Given the description of an element on the screen output the (x, y) to click on. 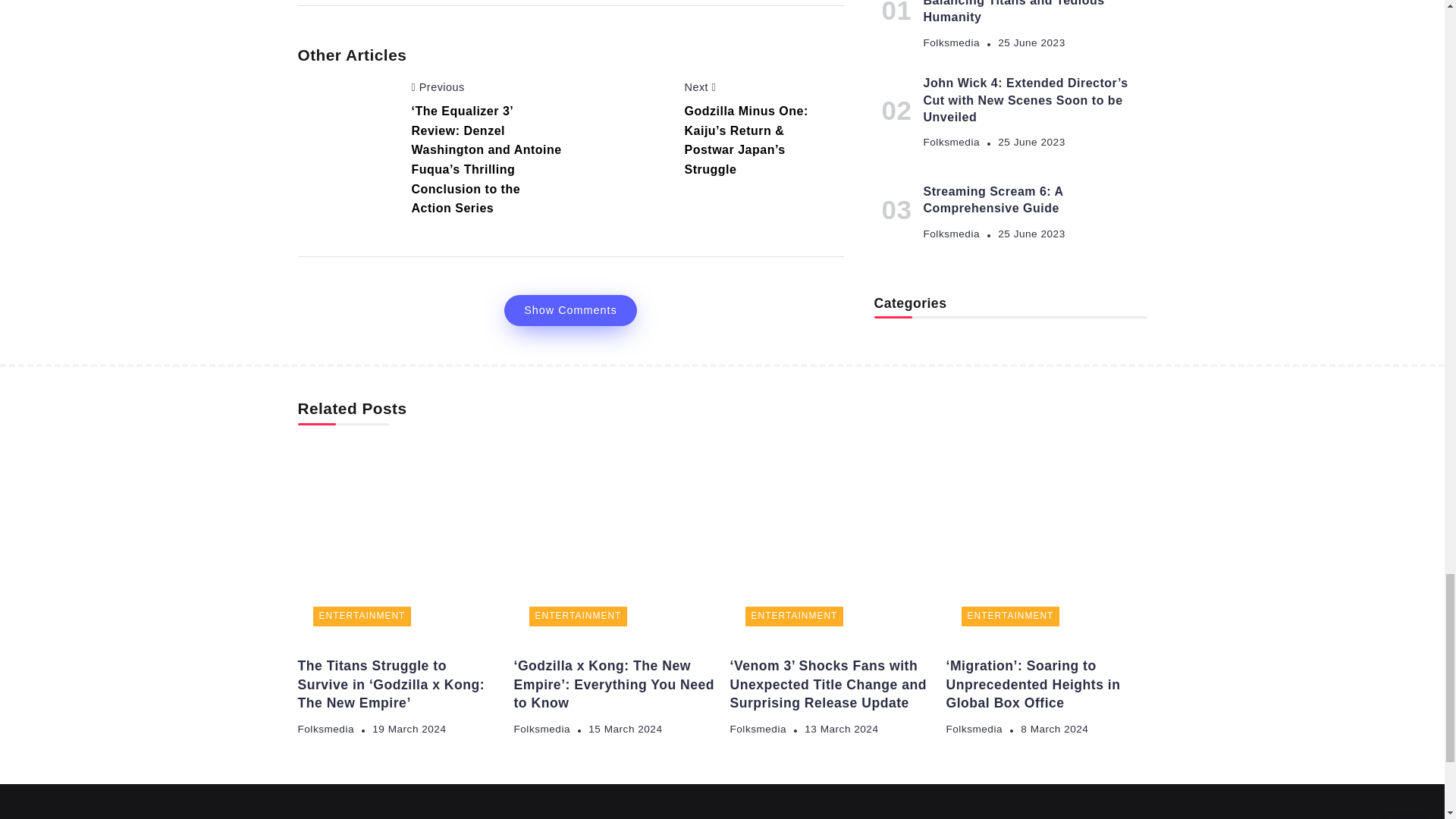
Show Comments (570, 309)
